Given the description of an element on the screen output the (x, y) to click on. 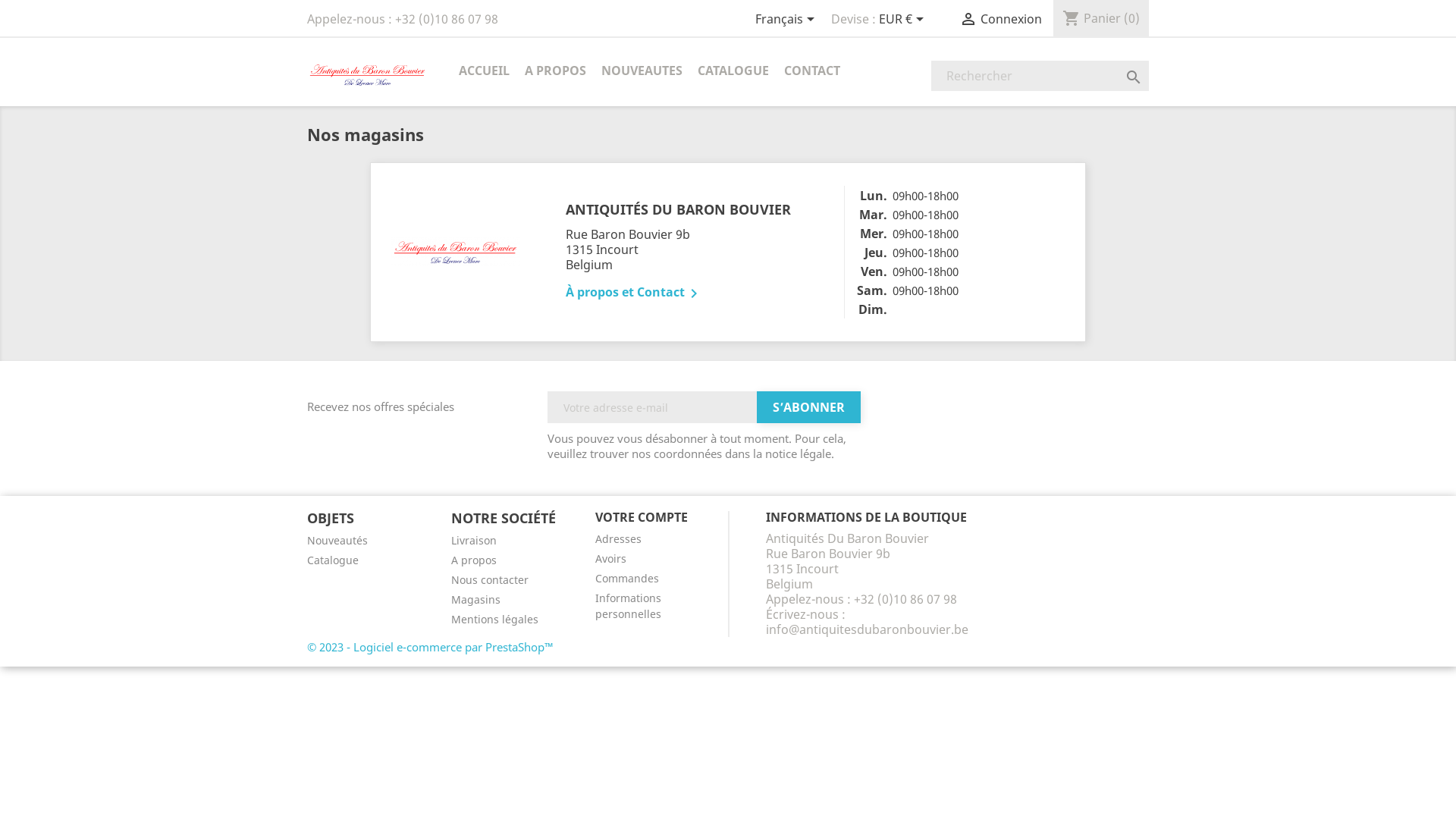
ACCUEIL Element type: text (484, 71)
CATALOGUE Element type: text (733, 71)
Avoirs Element type: text (610, 558)
VOTRE COMPTE Element type: text (641, 516)
Adresses Element type: text (618, 538)
Commandes Element type: text (626, 578)
CONTACT Element type: text (811, 71)
Livraison Element type: text (473, 540)
Catalogue Element type: text (332, 559)
A PROPOS Element type: text (555, 71)
NOUVEAUTES Element type: text (641, 71)
A propos Element type: text (473, 559)
Magasins Element type: text (475, 599)
Nous contacter Element type: text (489, 579)
Informations personnelles Element type: text (628, 605)
